Given the description of an element on the screen output the (x, y) to click on. 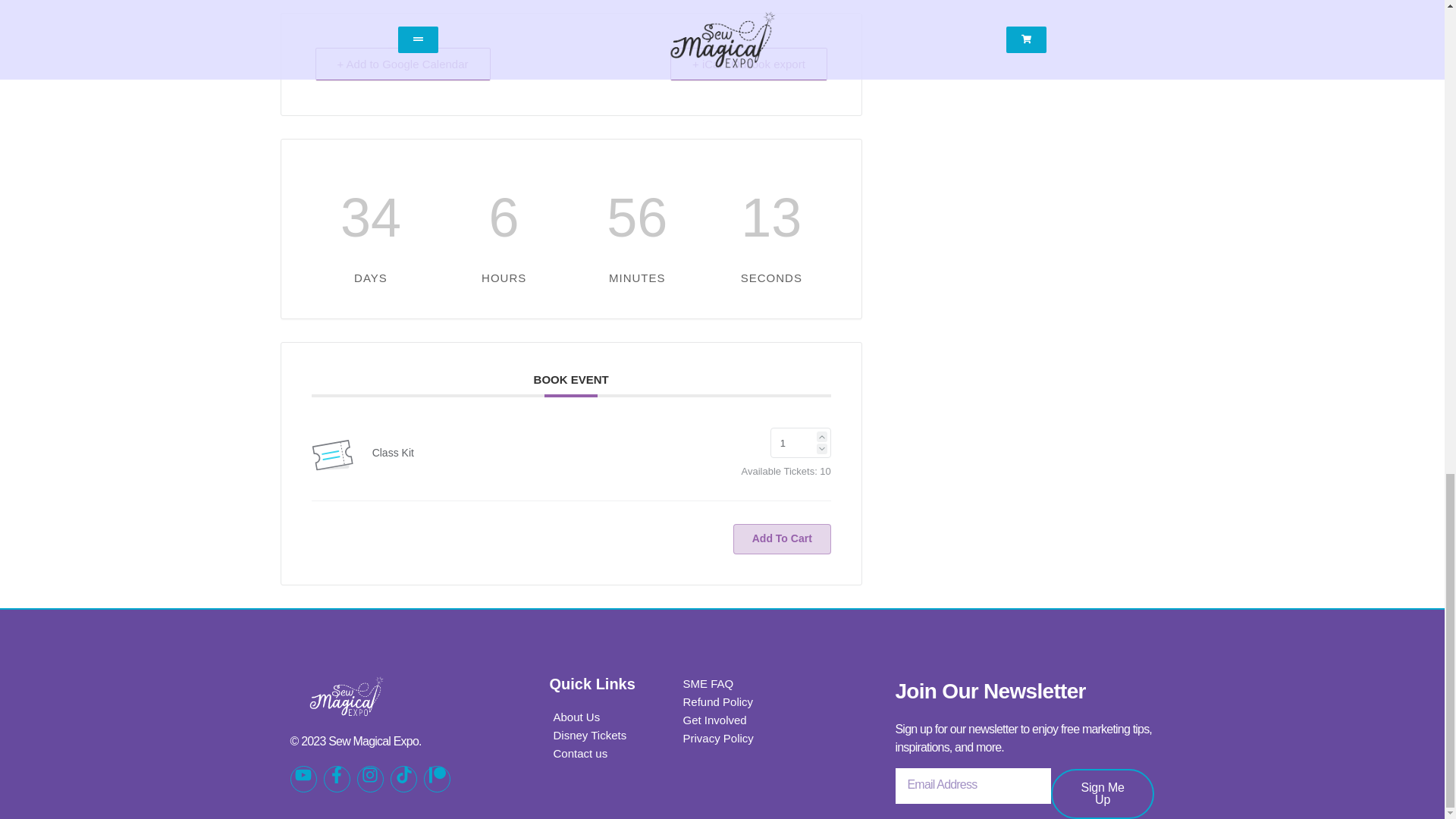
Count (800, 442)
Privacy Policy (717, 738)
Add To Cart (782, 539)
1 (800, 442)
SME FAQ (707, 683)
Disney Tickets (590, 735)
Refund Policy (717, 701)
Get Involved (713, 720)
About Us (576, 717)
Contact us (580, 753)
